Given the description of an element on the screen output the (x, y) to click on. 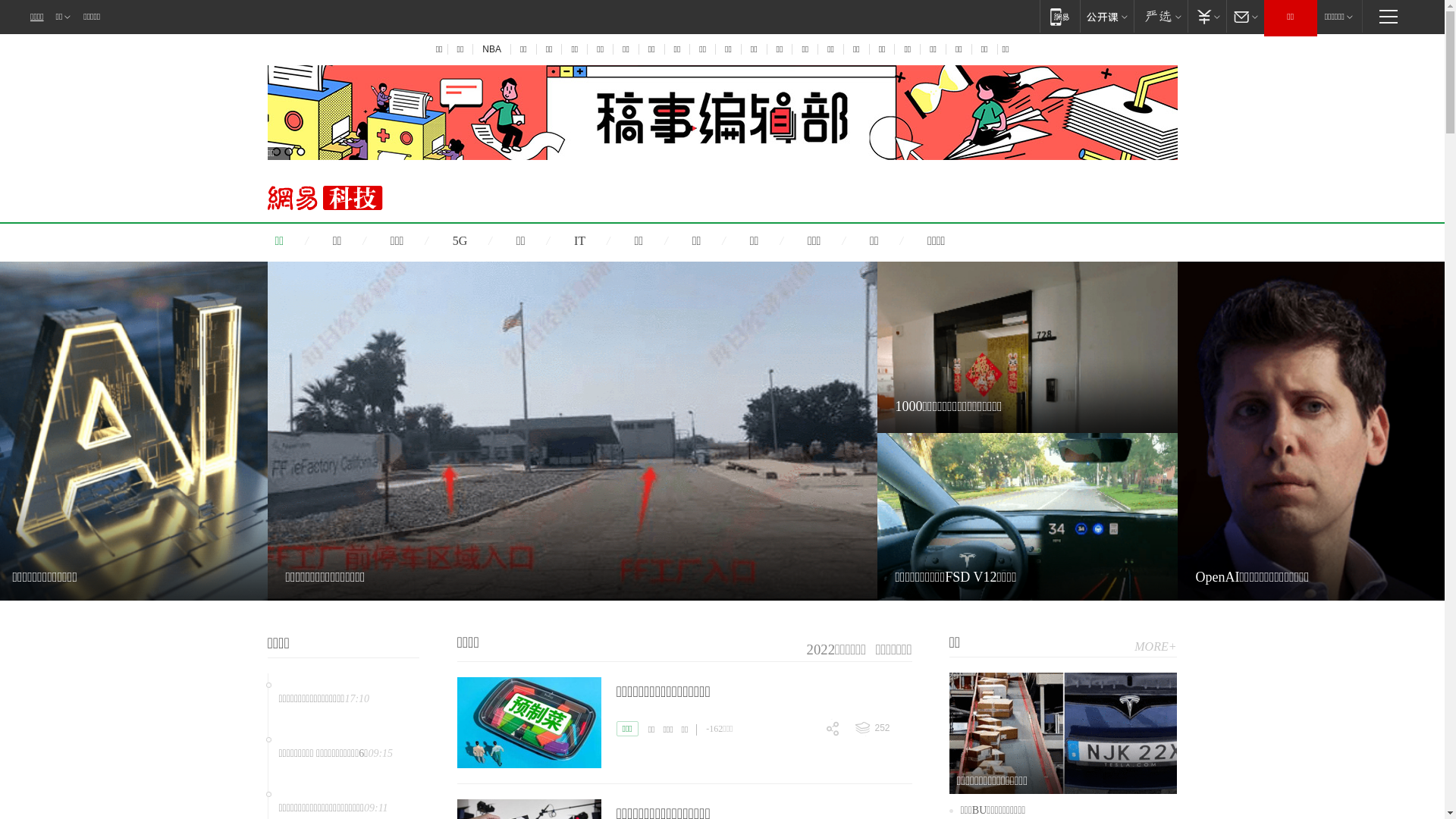
IT/ Element type: text (602, 241)
5G/ Element type: text (482, 241)
NBA Element type: text (491, 48)
